Given the description of an element on the screen output the (x, y) to click on. 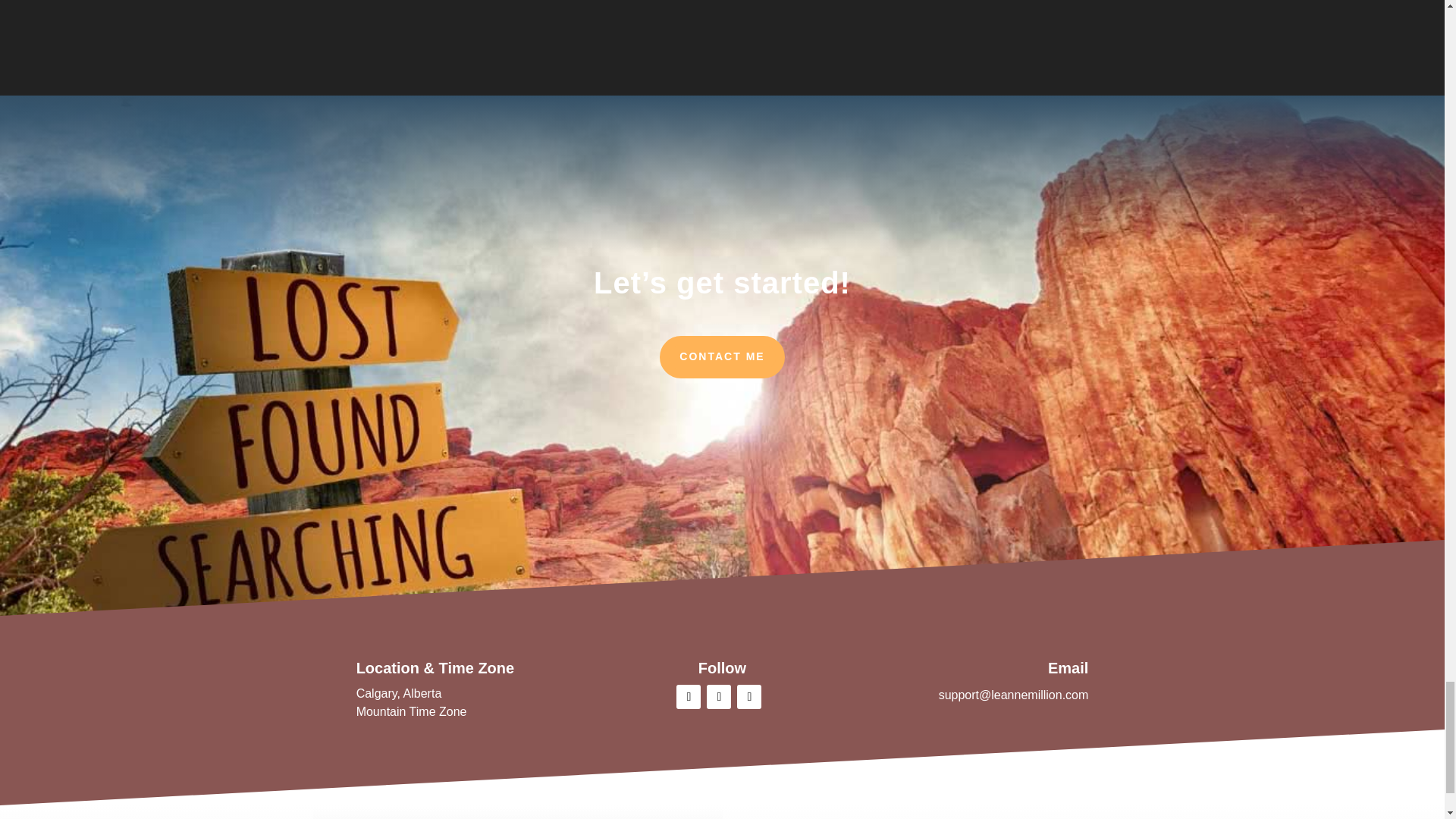
Follow on Instagram (718, 696)
CONTACT ME (721, 356)
Follow on Youtube (748, 696)
Follow on Facebook (688, 696)
